Given the description of an element on the screen output the (x, y) to click on. 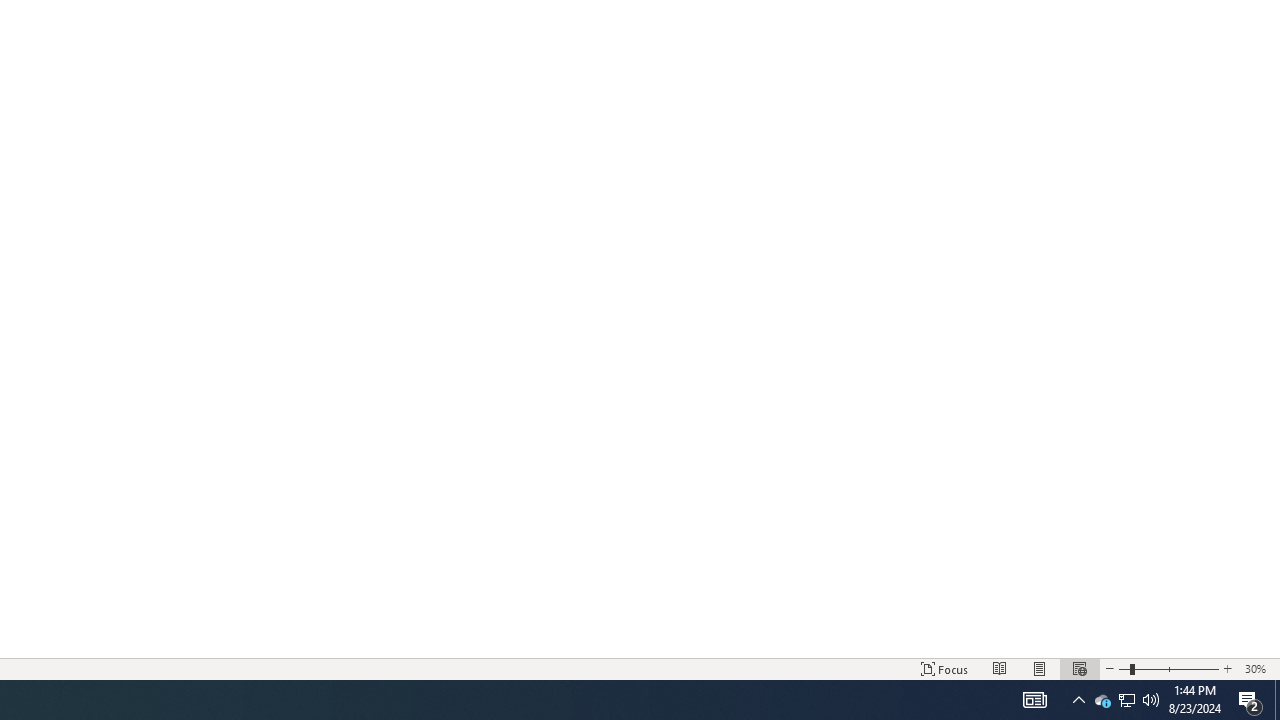
Zoom 30% (1258, 668)
